Given the description of an element on the screen output the (x, y) to click on. 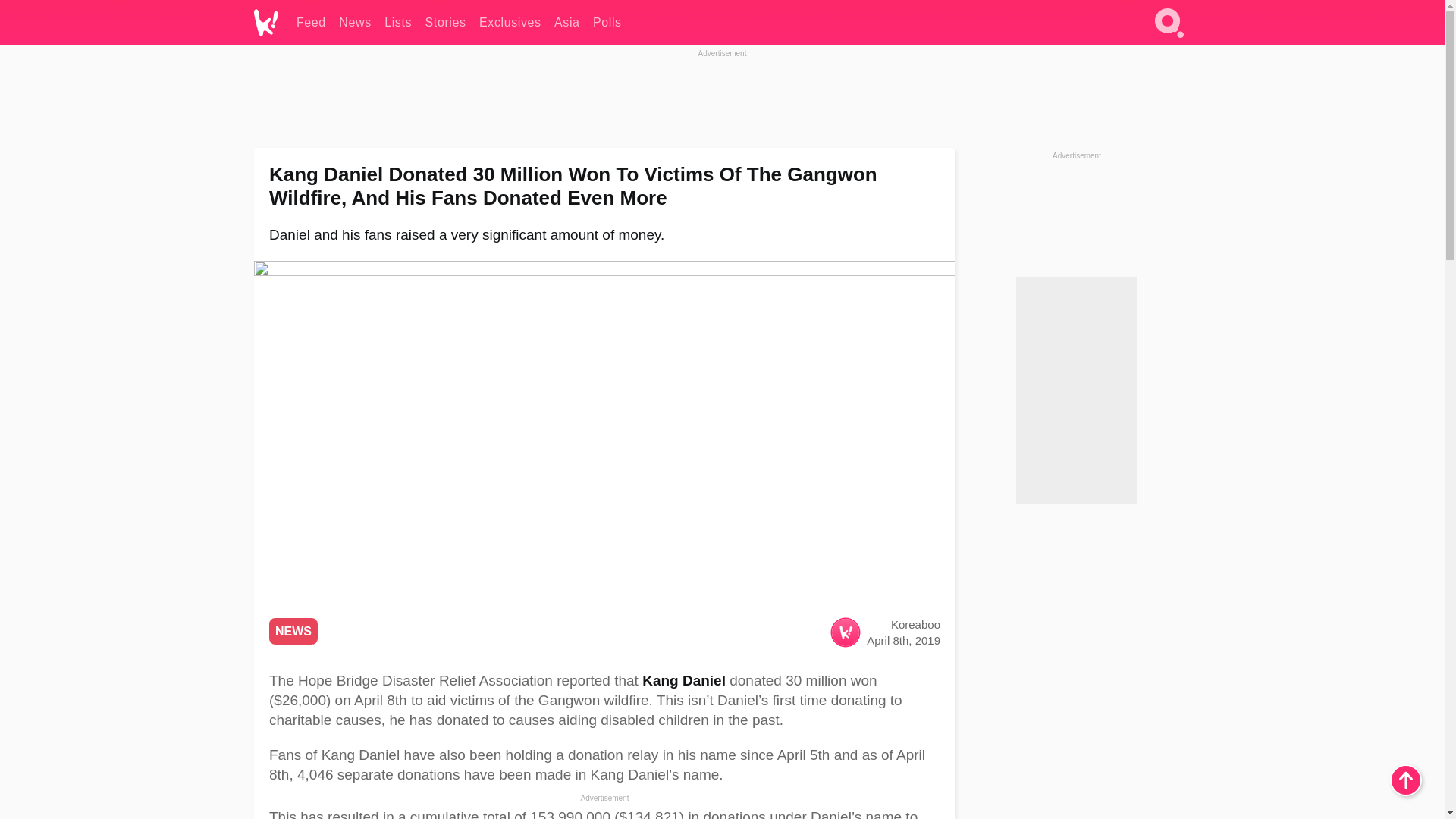
Stories (445, 22)
Exclusives (510, 22)
NEWS (293, 631)
